Given the description of an element on the screen output the (x, y) to click on. 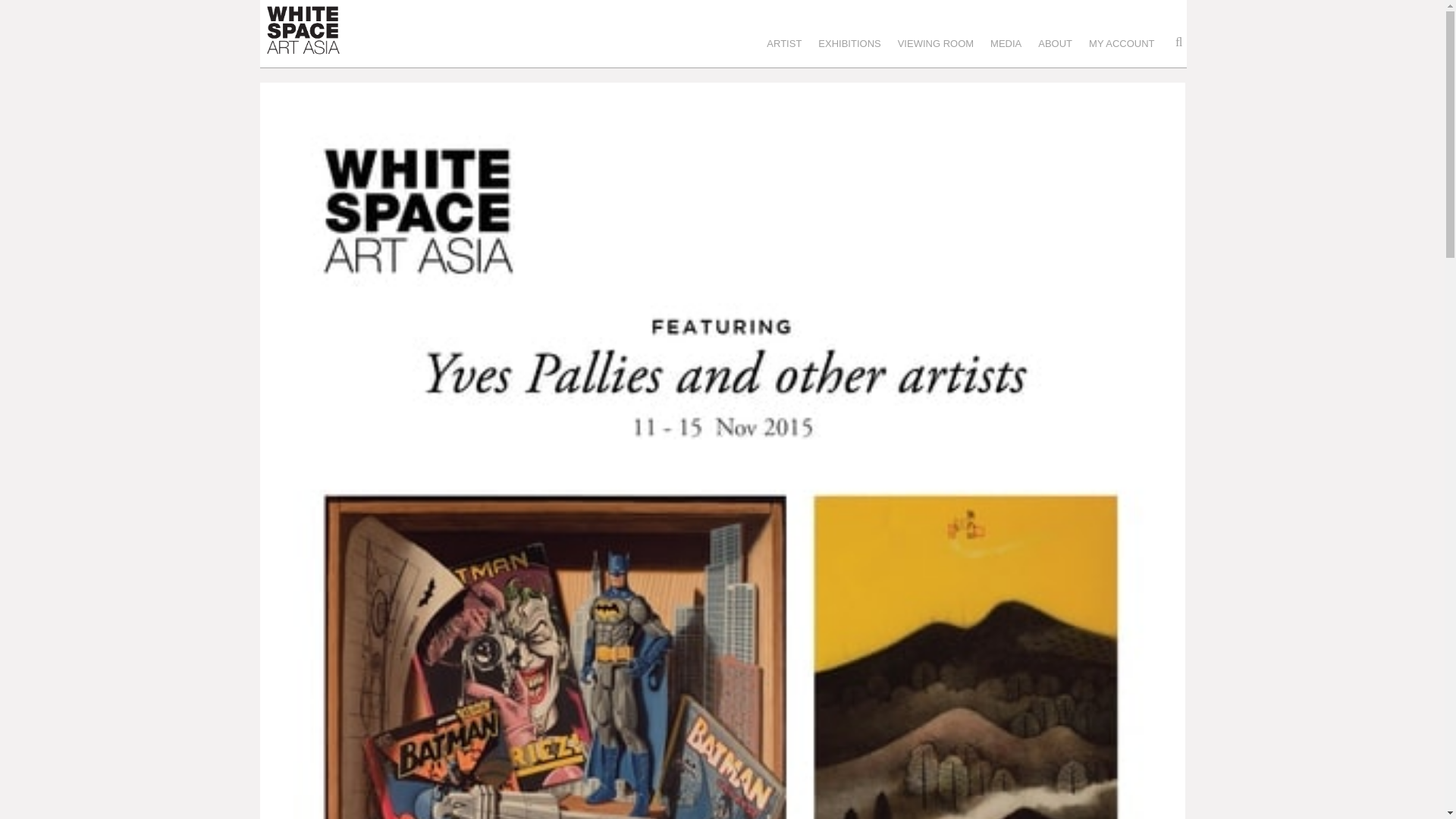
ARTIST (792, 52)
EXHIBITIONS (857, 52)
